Given the description of an element on the screen output the (x, y) to click on. 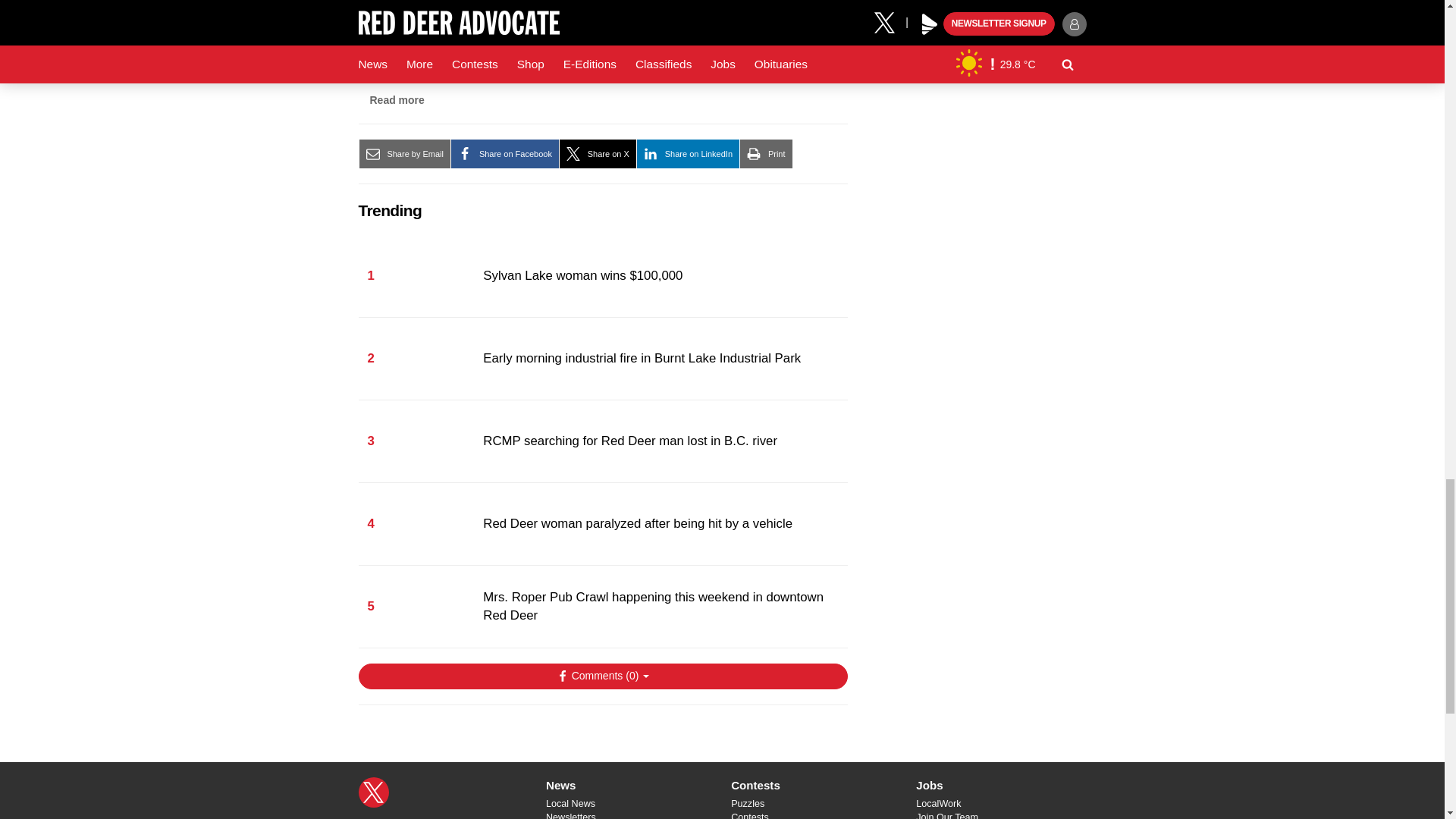
Show Comments (602, 676)
X (373, 792)
